Given the description of an element on the screen output the (x, y) to click on. 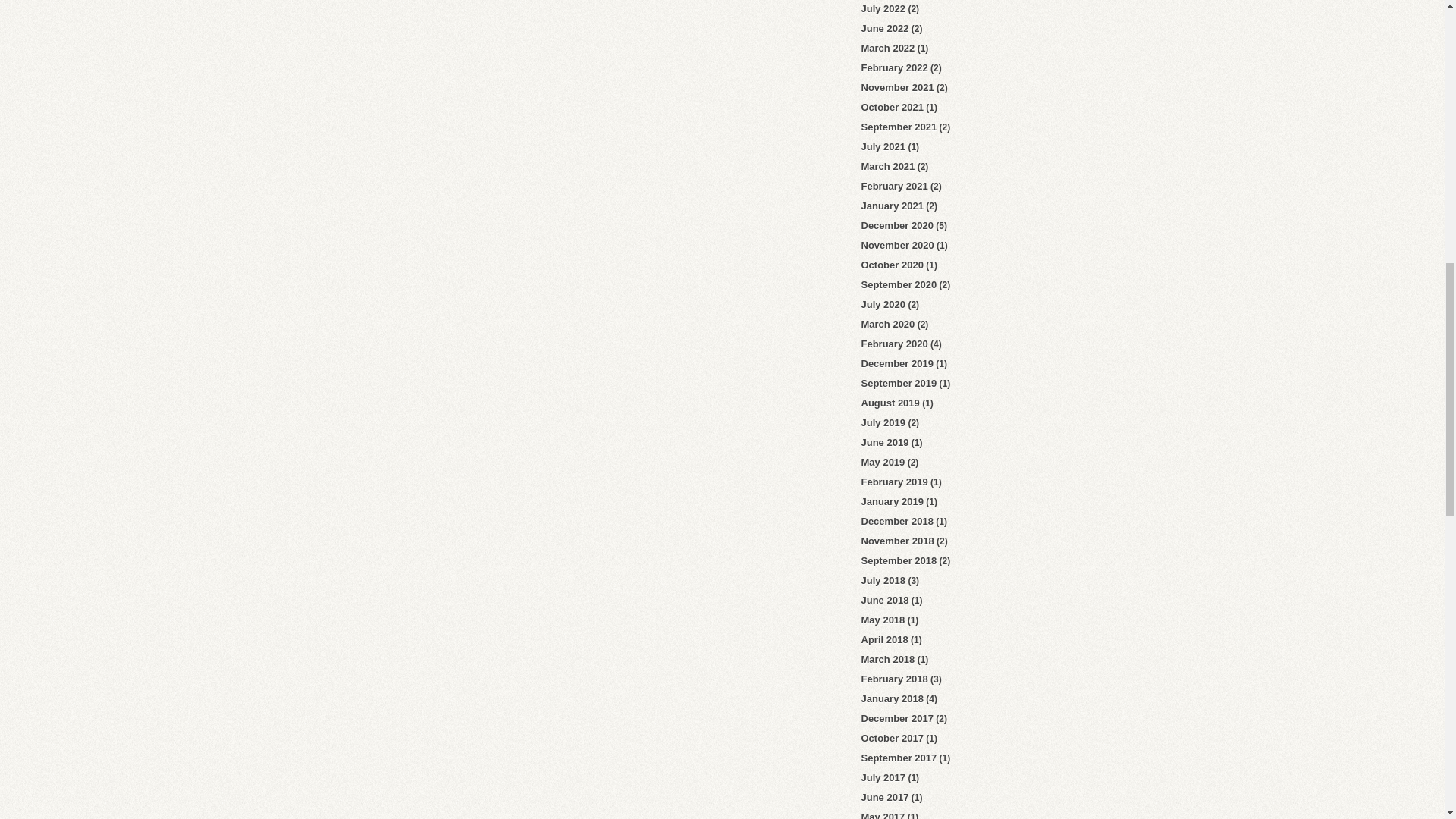
September 2021 (899, 126)
February 2022 (894, 67)
October 2021 (892, 107)
July 2022 (883, 8)
March 2022 (888, 48)
June 2022 (884, 28)
November 2021 (897, 87)
July 2021 (883, 146)
